Given the description of an element on the screen output the (x, y) to click on. 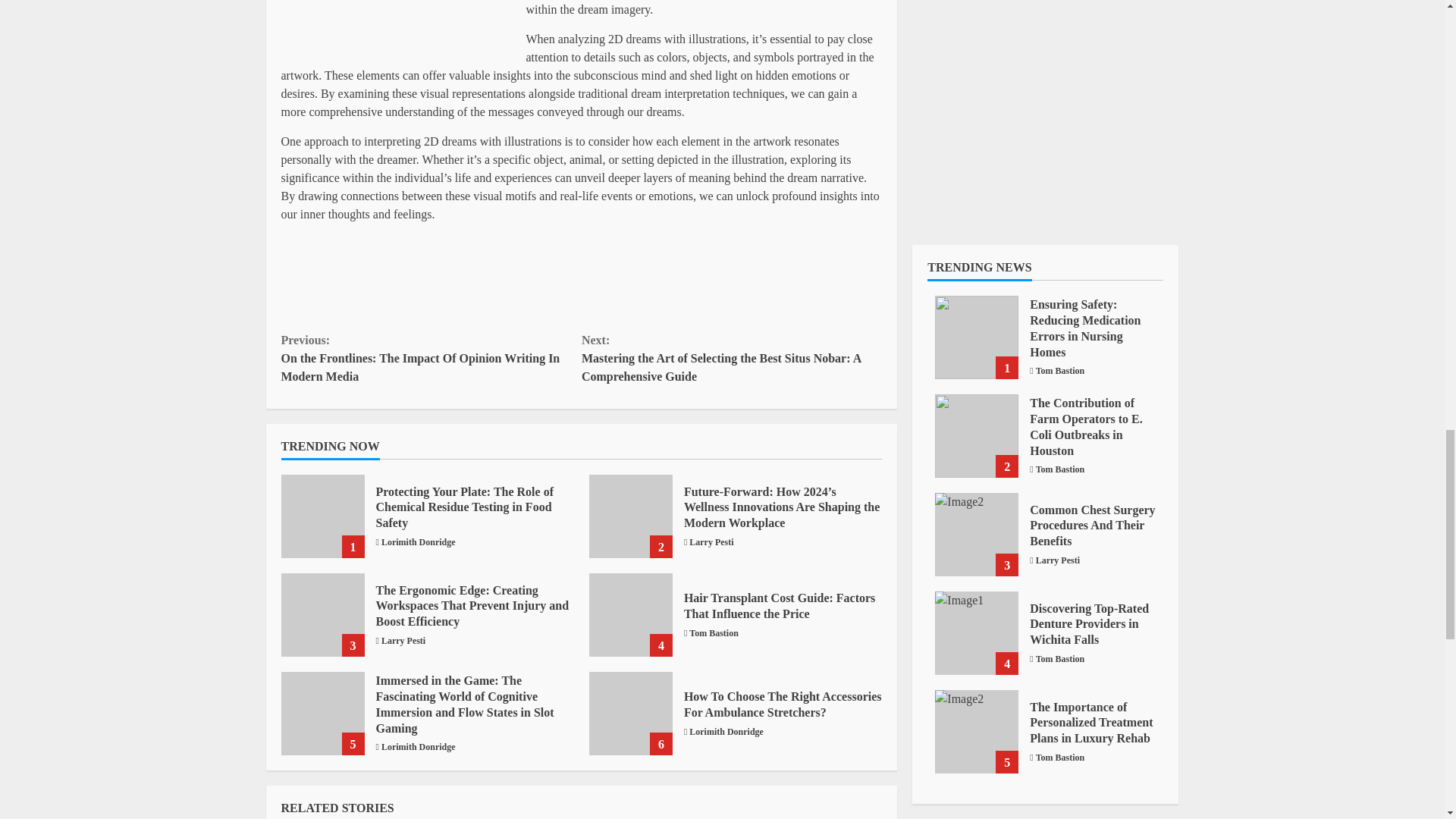
Tom Bastion (713, 632)
Larry Pesti (403, 640)
Lorimith Donridge (418, 746)
Lorimith Donridge (418, 541)
Hair Transplant Cost Guide: Factors That Influence the Price (779, 605)
Hair Transplant Cost Guide: Factors That Influence the Price (630, 614)
